Given the description of an element on the screen output the (x, y) to click on. 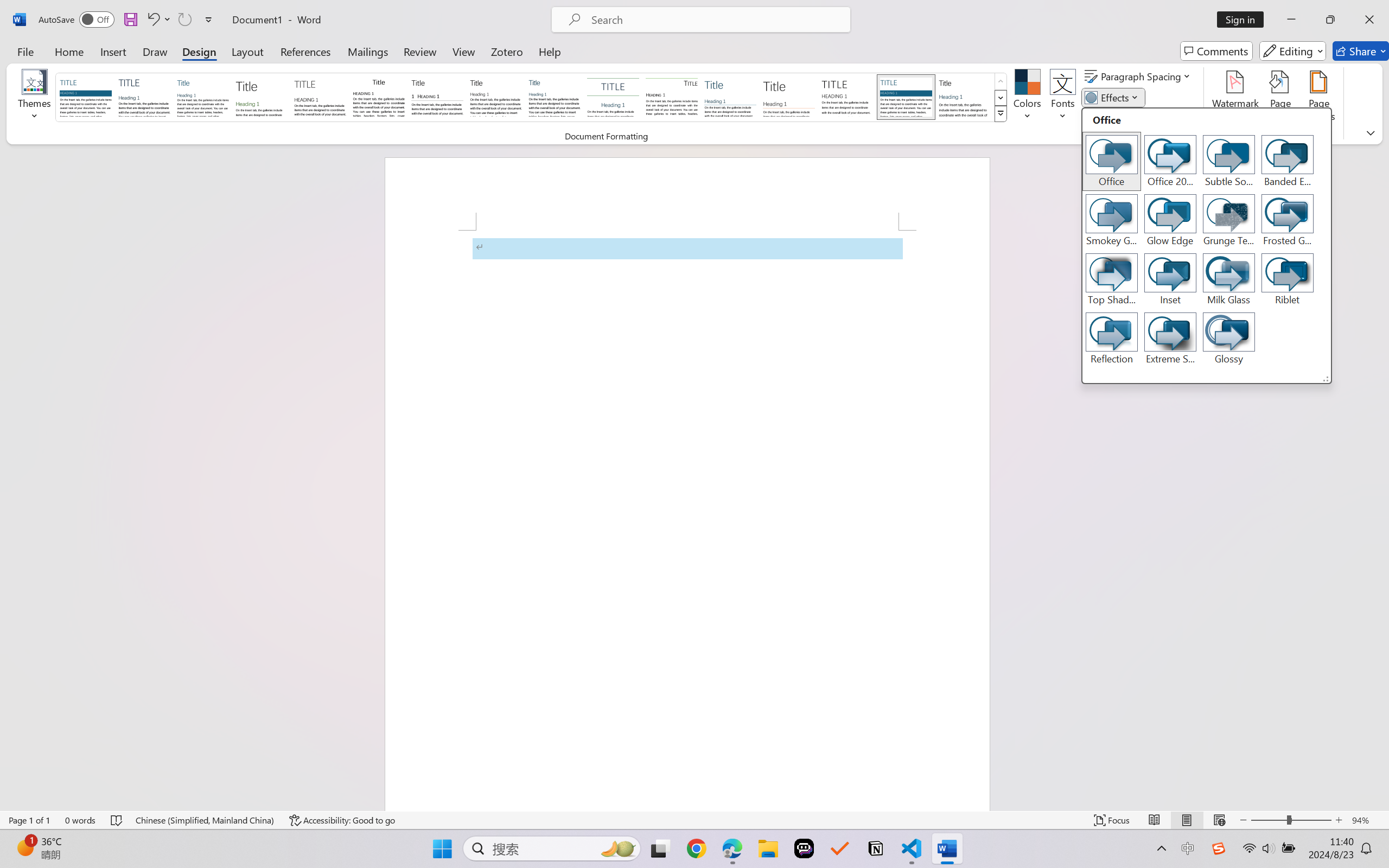
Can't Repeat (184, 19)
Black & White (Word 2013) (495, 96)
Basic (Simple) (202, 96)
